Given the description of an element on the screen output the (x, y) to click on. 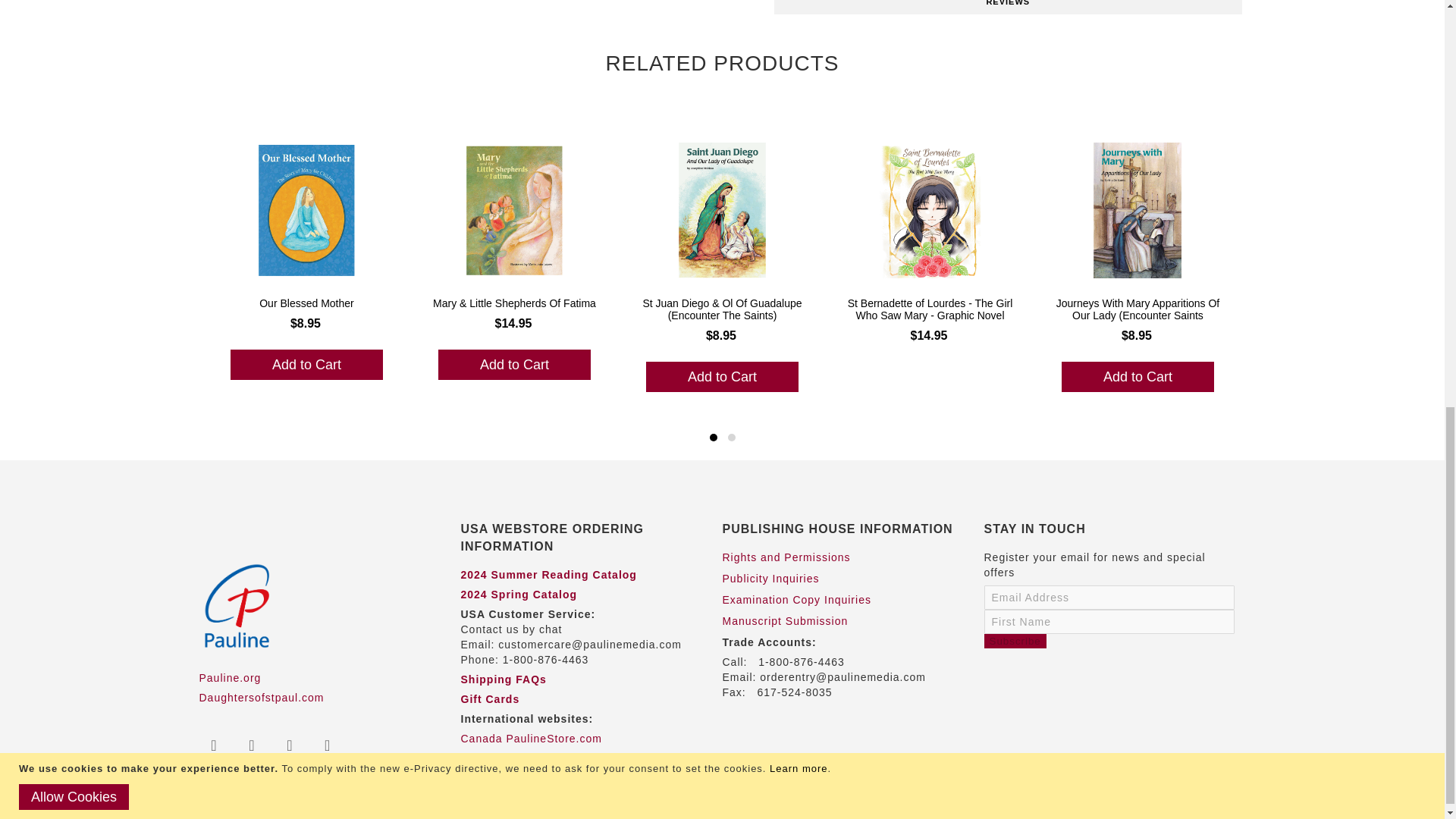
Subscribe (1015, 640)
